Given the description of an element on the screen output the (x, y) to click on. 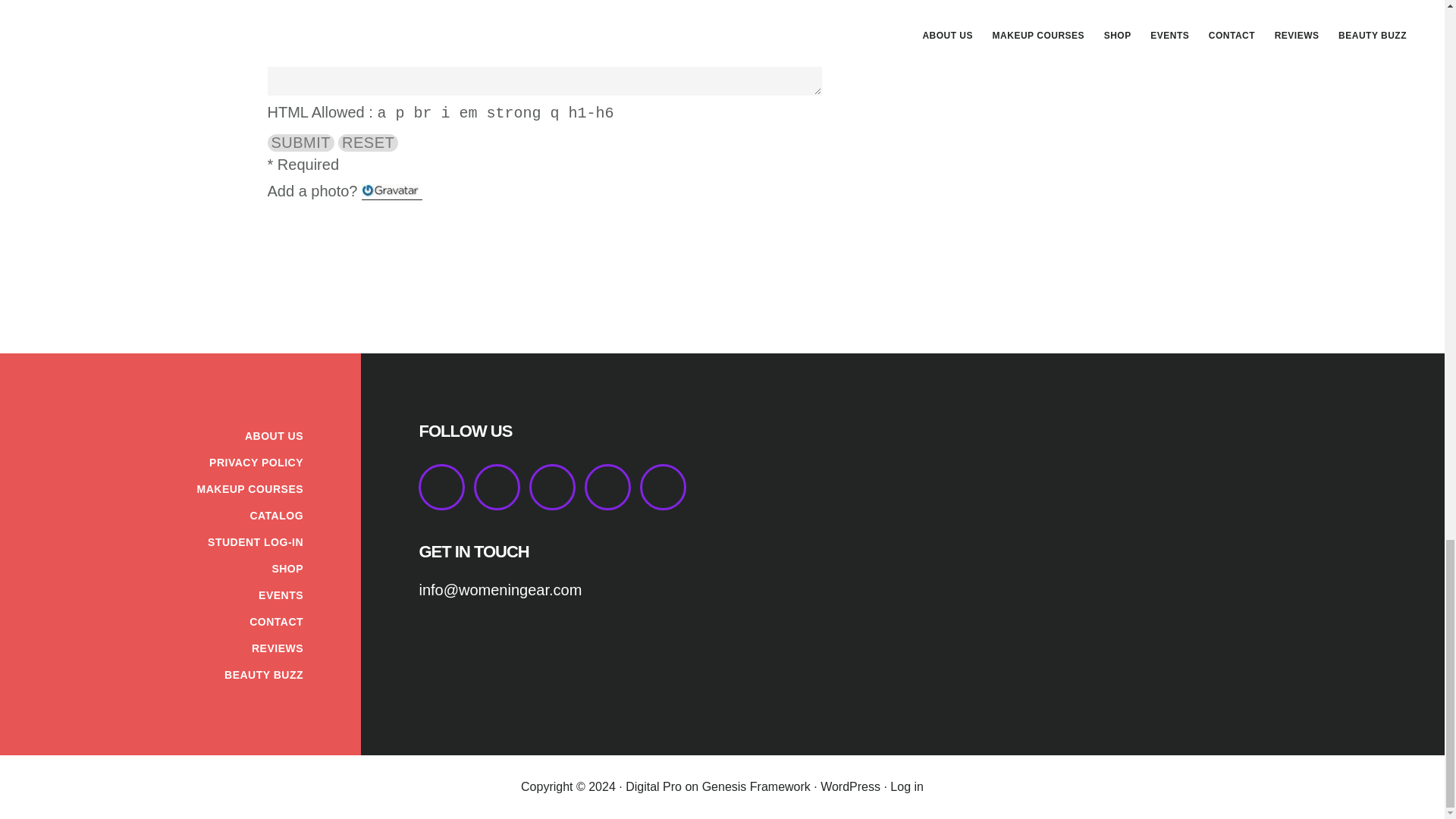
CONTACT (275, 621)
Gravatar Site (391, 190)
Submit (300, 142)
Submit (300, 142)
Gravatar Website (391, 190)
STUDENT LOG-IN (255, 541)
ABOUT US (273, 435)
REVIEWS (276, 648)
Log in (906, 786)
Reset (367, 142)
CATALOG (275, 515)
EVENTS (280, 594)
MAKEUP COURSES (250, 489)
SHOP (286, 568)
WordPress (850, 786)
